Given the description of an element on the screen output the (x, y) to click on. 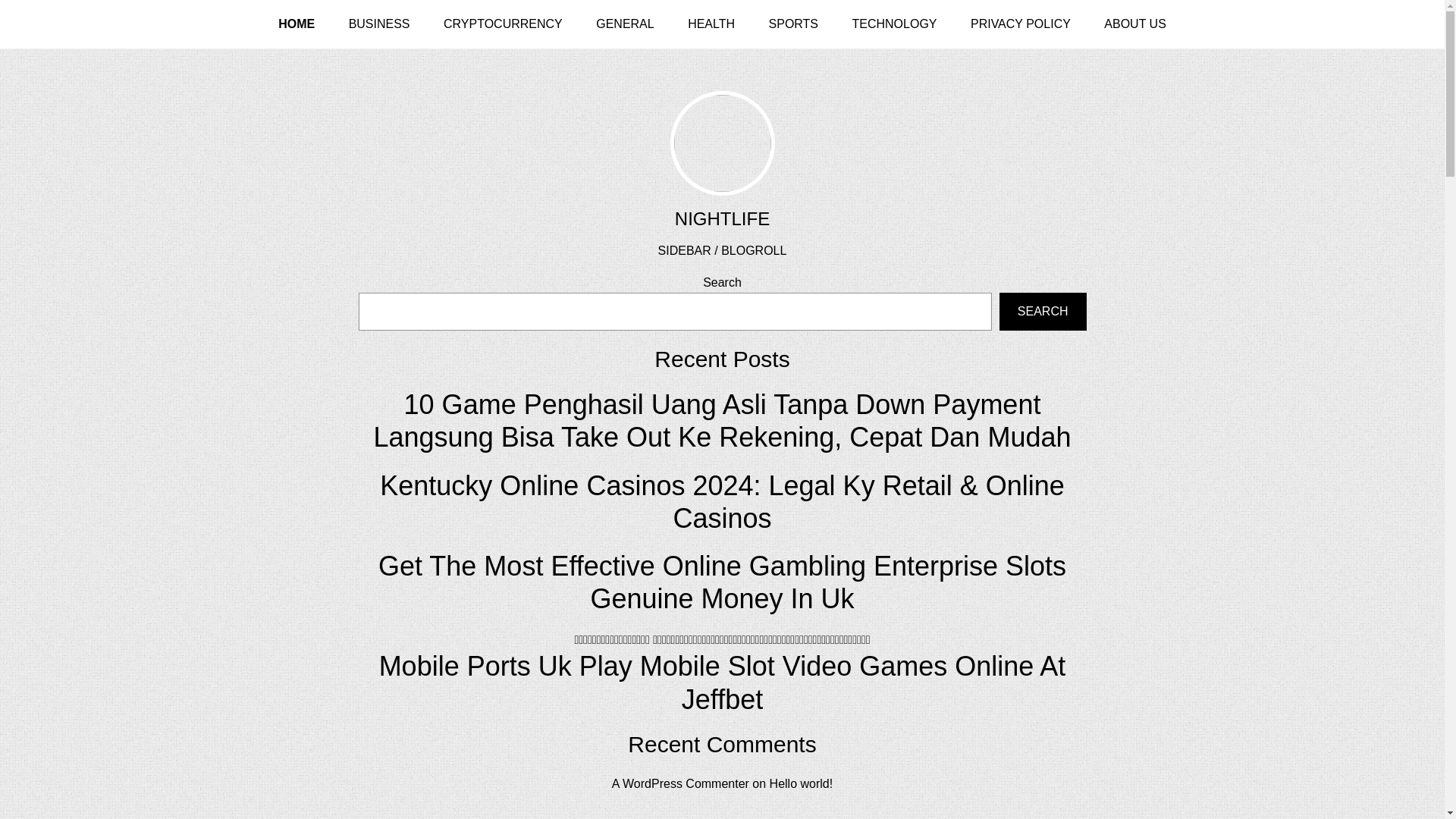
HOME (296, 24)
CRYPTOCURRENCY (503, 24)
Hello world! (801, 783)
A WordPress Commenter (680, 783)
BUSINESS (379, 24)
PRIVACY POLICY (1020, 24)
SEARCH (1042, 311)
NIGHTLIFE (722, 218)
HEALTH (710, 24)
SPORTS (794, 24)
TECHNOLOGY (893, 24)
ABOUT US (1134, 24)
